Given the description of an element on the screen output the (x, y) to click on. 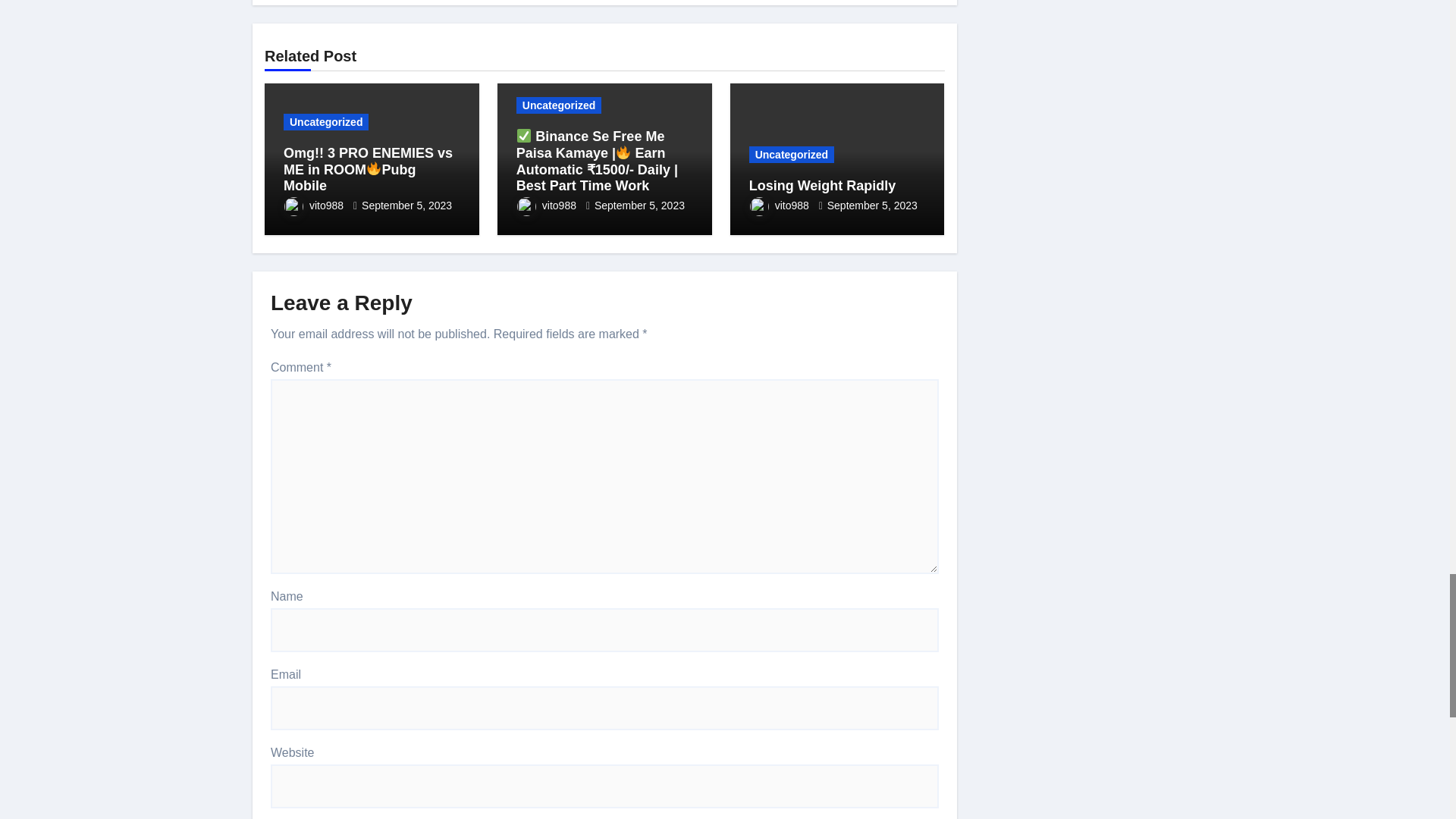
Permalink to: Losing Weight Rapidly (822, 185)
